Given the description of an element on the screen output the (x, y) to click on. 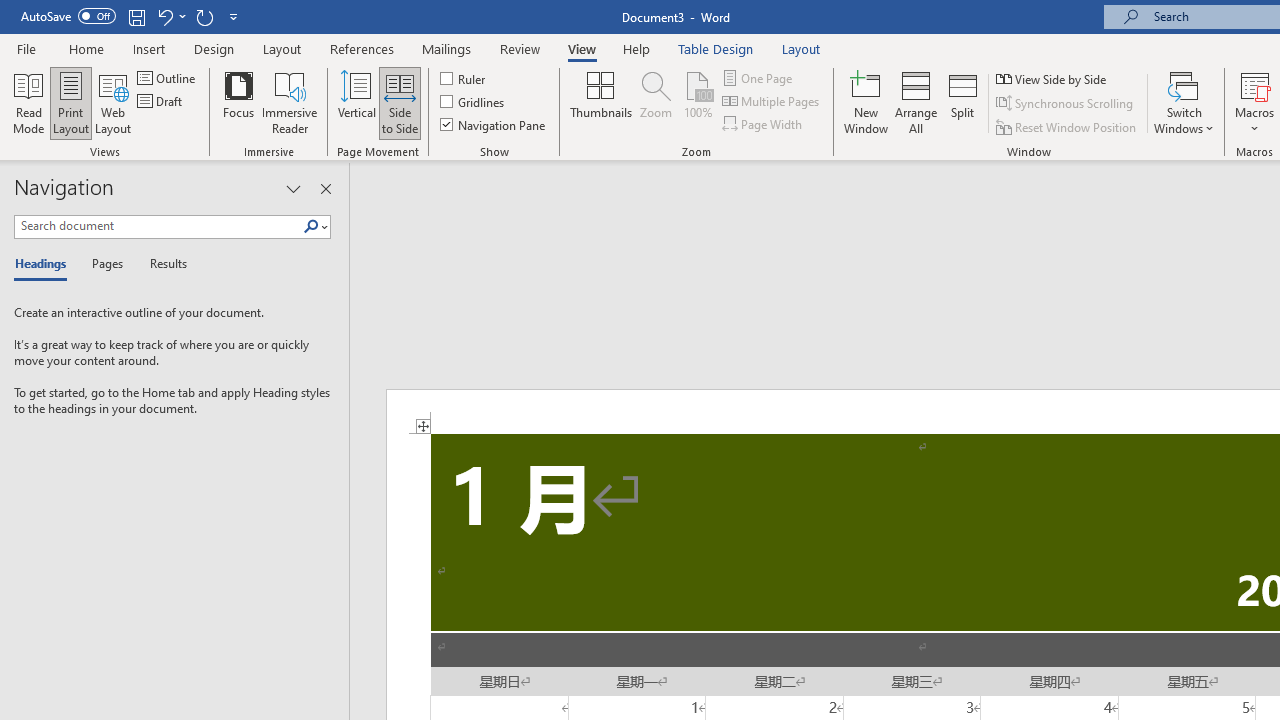
Vertical (356, 102)
One Page (758, 78)
Macros (1254, 102)
Table Design (715, 48)
View Side by Side (1053, 78)
Search document (157, 226)
Results (161, 264)
Print Layout (70, 102)
Page Width (763, 124)
File Tab (26, 48)
Review (520, 48)
100% (698, 102)
